Given the description of an element on the screen output the (x, y) to click on. 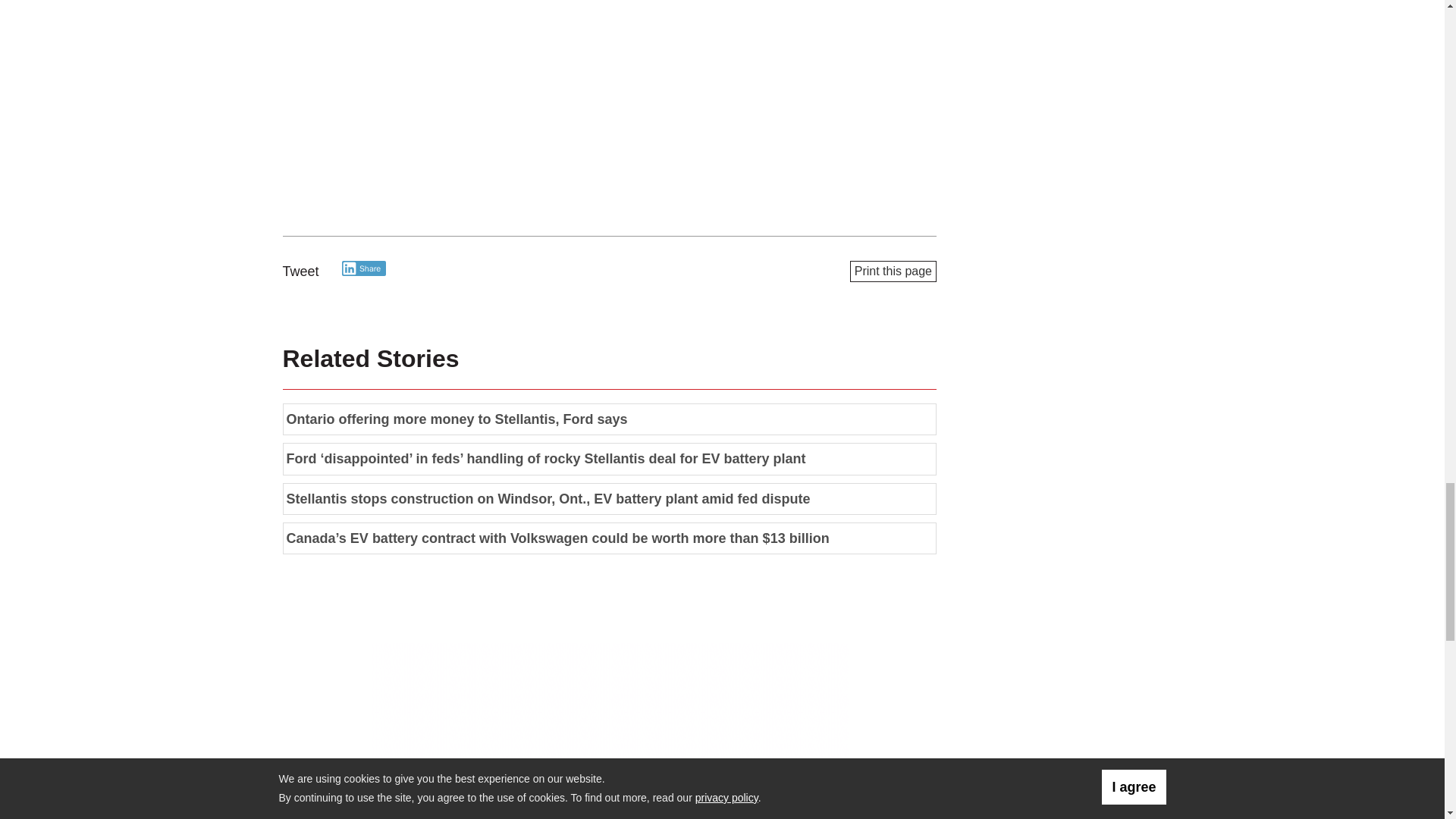
3rd party ad content (609, 730)
